Given the description of an element on the screen output the (x, y) to click on. 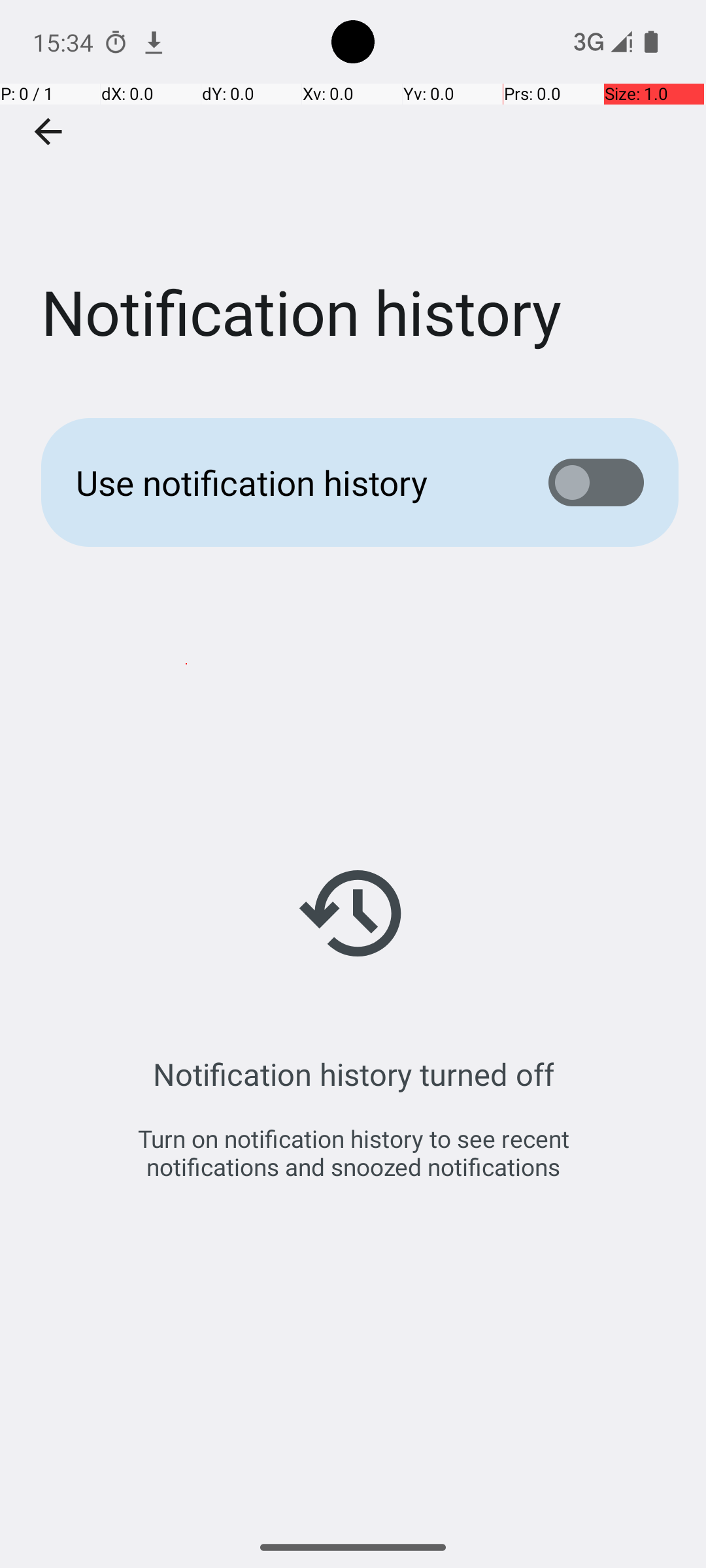
Notification history turned off Element type: android.widget.TextView (352, 1073)
Turn on notification history to see recent notifications and snoozed notifications Element type: android.widget.TextView (352, 1152)
